Given the description of an element on the screen output the (x, y) to click on. 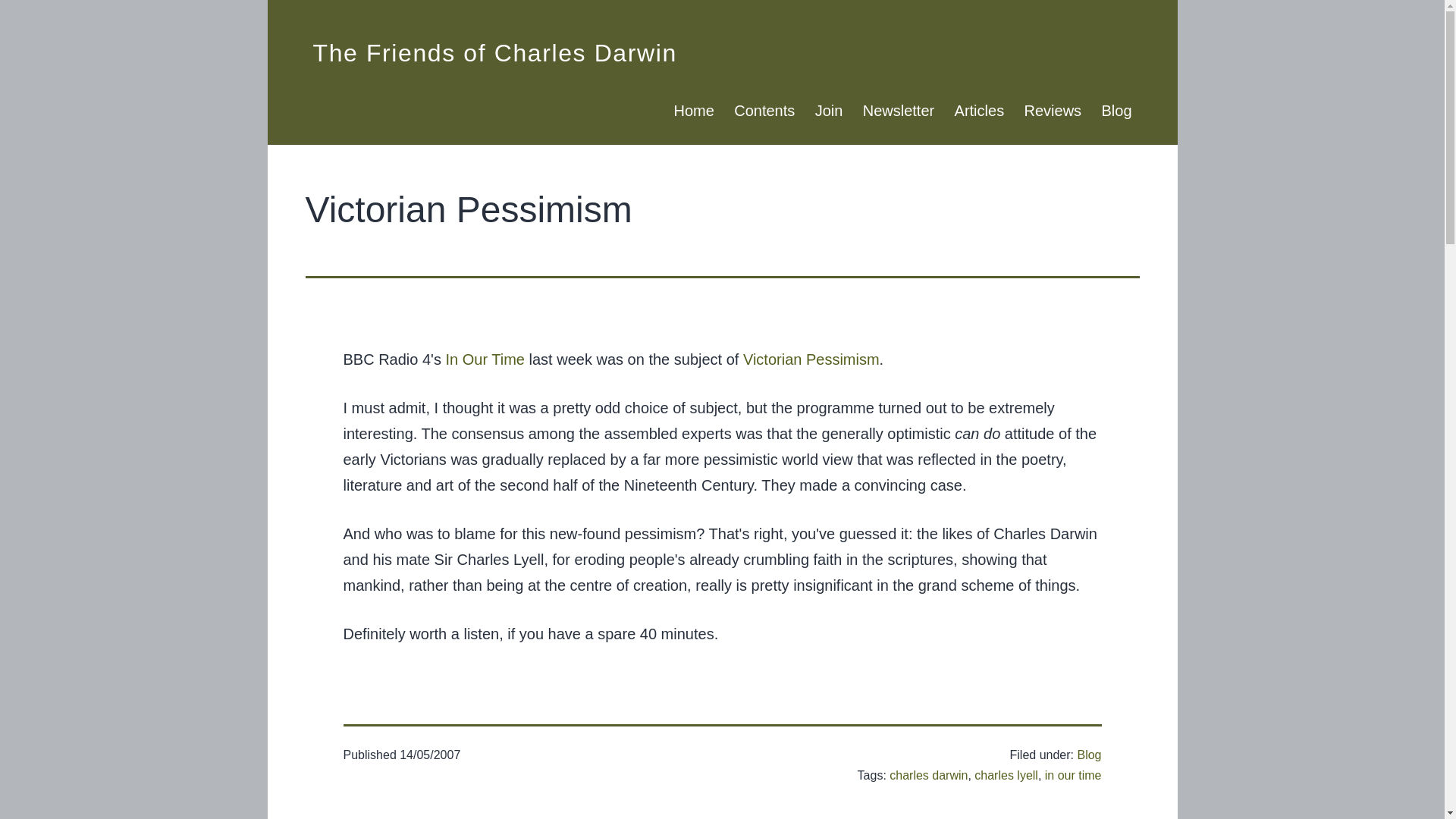
Join (828, 110)
in our time (1073, 775)
Blog (1115, 110)
charles lyell (1006, 775)
The Friends of Charles Darwin (495, 52)
Articles (978, 110)
In Our Time (484, 359)
Newsletter (898, 110)
charles darwin (928, 775)
Home (693, 110)
